Given the description of an element on the screen output the (x, y) to click on. 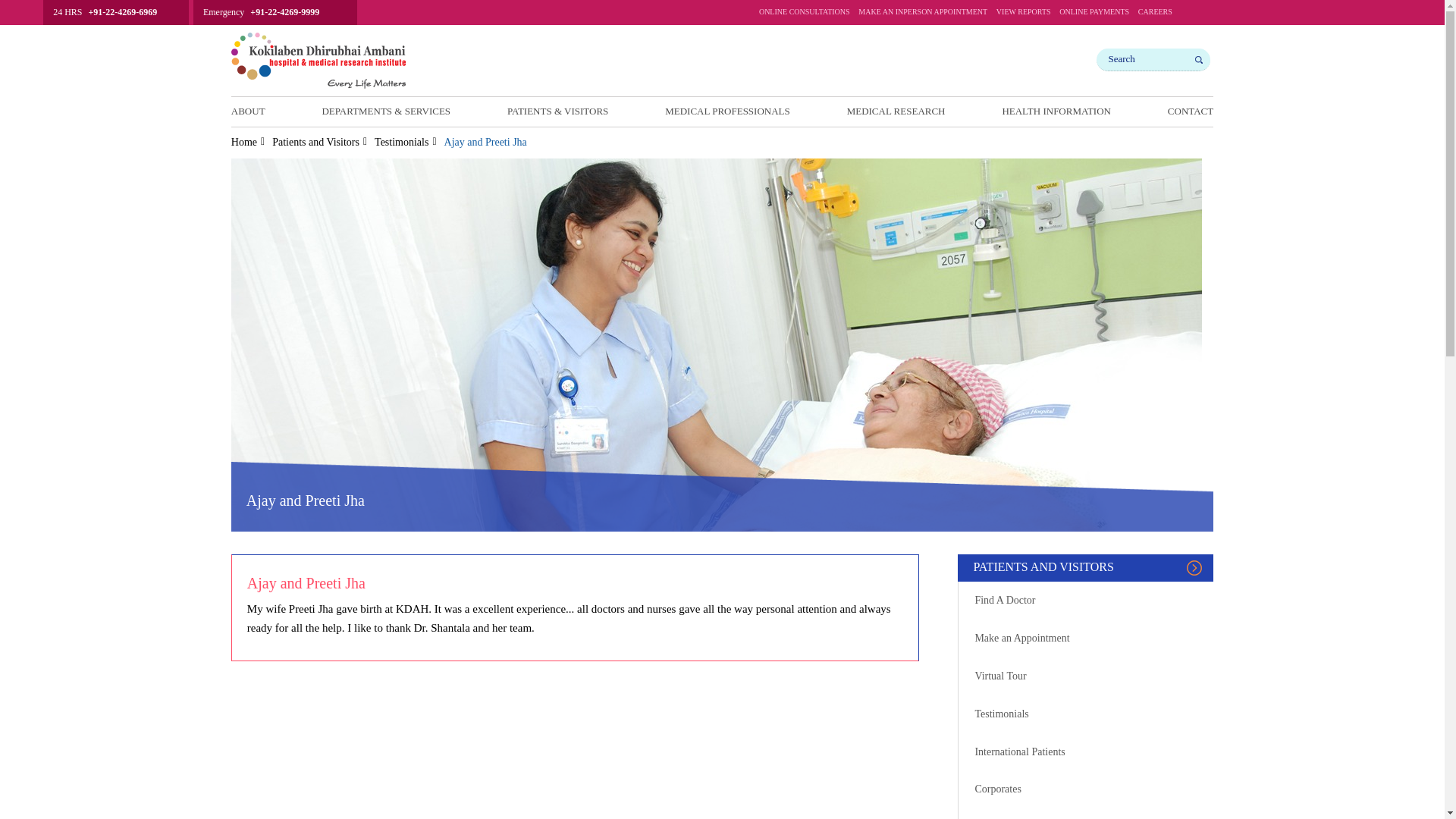
MAKE AN INPERSON APPOINTMENT (923, 14)
ONLINE CONSULTATIONS (804, 14)
ONLINE PAYMENTS (1094, 14)
CAREERS (1155, 14)
ABOUT (247, 110)
VIEW REPORTS (1023, 14)
